Given the description of an element on the screen output the (x, y) to click on. 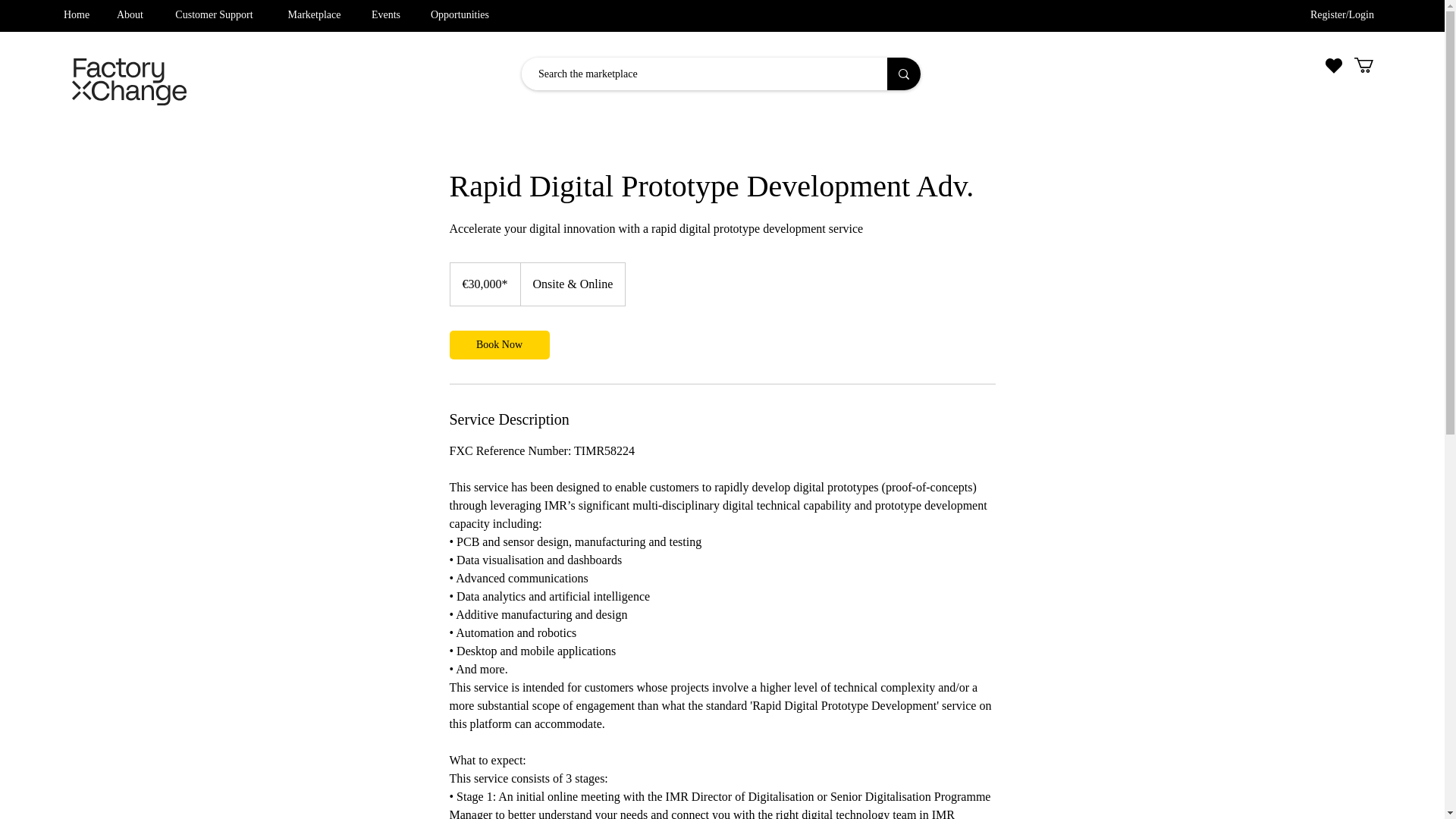
Marketplace (313, 14)
Customer Support (213, 14)
About (130, 14)
Events (385, 14)
Opportunities (459, 14)
Book Now (498, 344)
Home (76, 14)
